Given the description of an element on the screen output the (x, y) to click on. 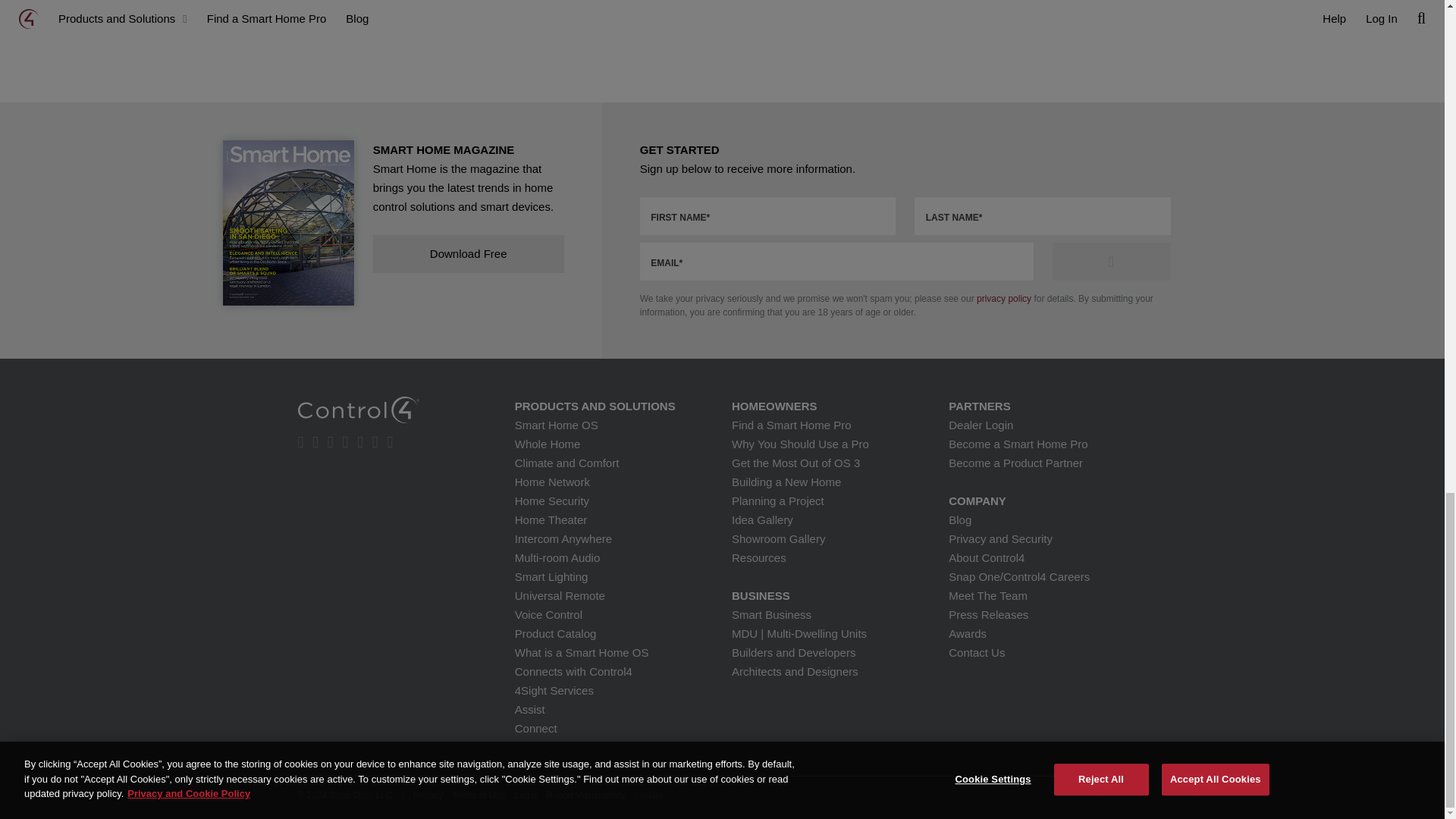
SMART PEOPLE PERSONALIZE THEIR SMART HOMES (391, 18)
Remote Control World: 5 Must-Have Automated Home Accessories (769, 18)
Request More Information (1111, 261)
